Given the description of an element on the screen output the (x, y) to click on. 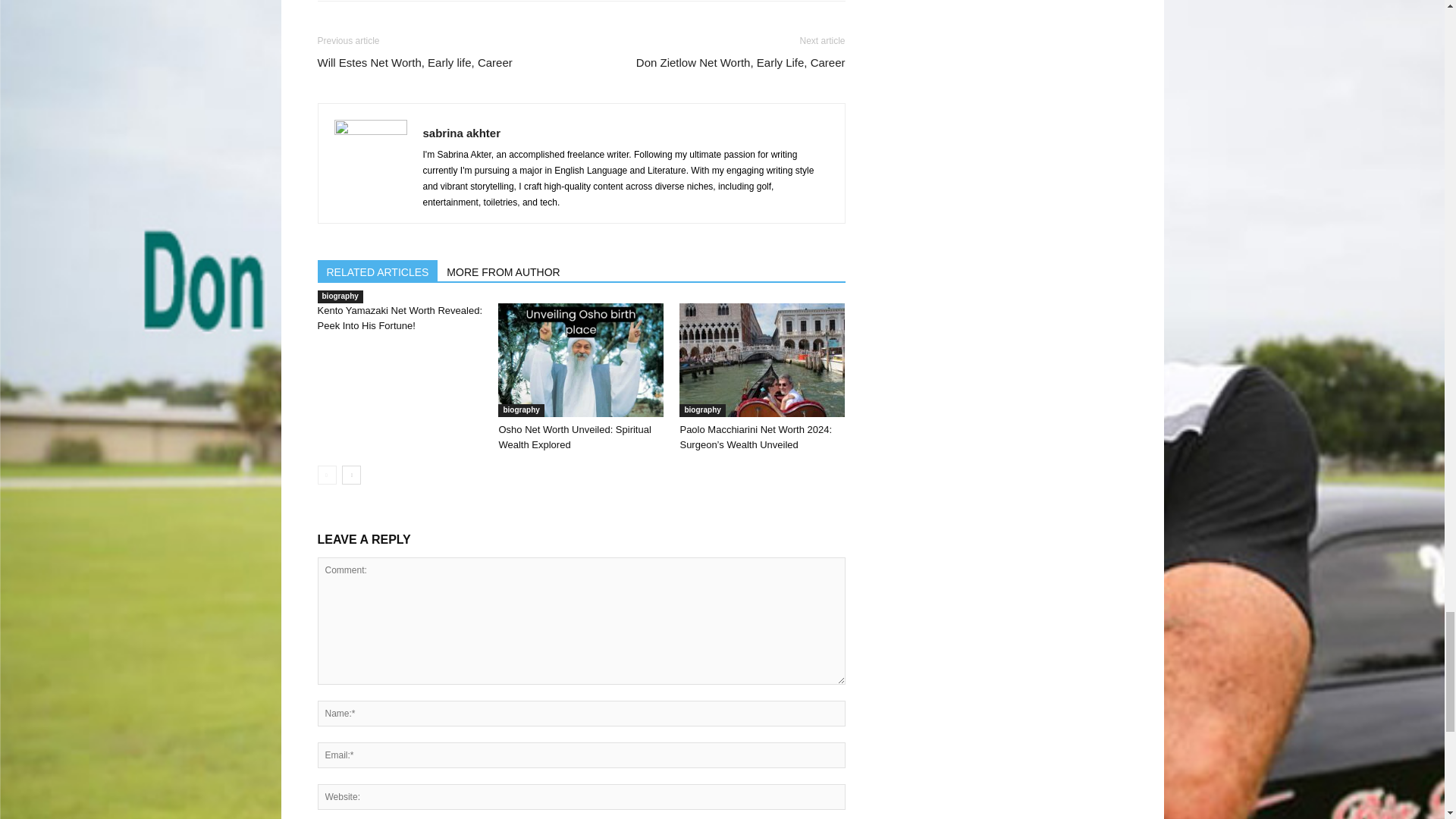
Osho Net Worth Unveiled: Spiritual Wealth Explored (580, 359)
Osho Net Worth Unveiled: Spiritual Wealth Explored (573, 437)
Kento Yamazaki Net Worth Revealed: Peek Into His Fortune! (399, 317)
